Given the description of an element on the screen output the (x, y) to click on. 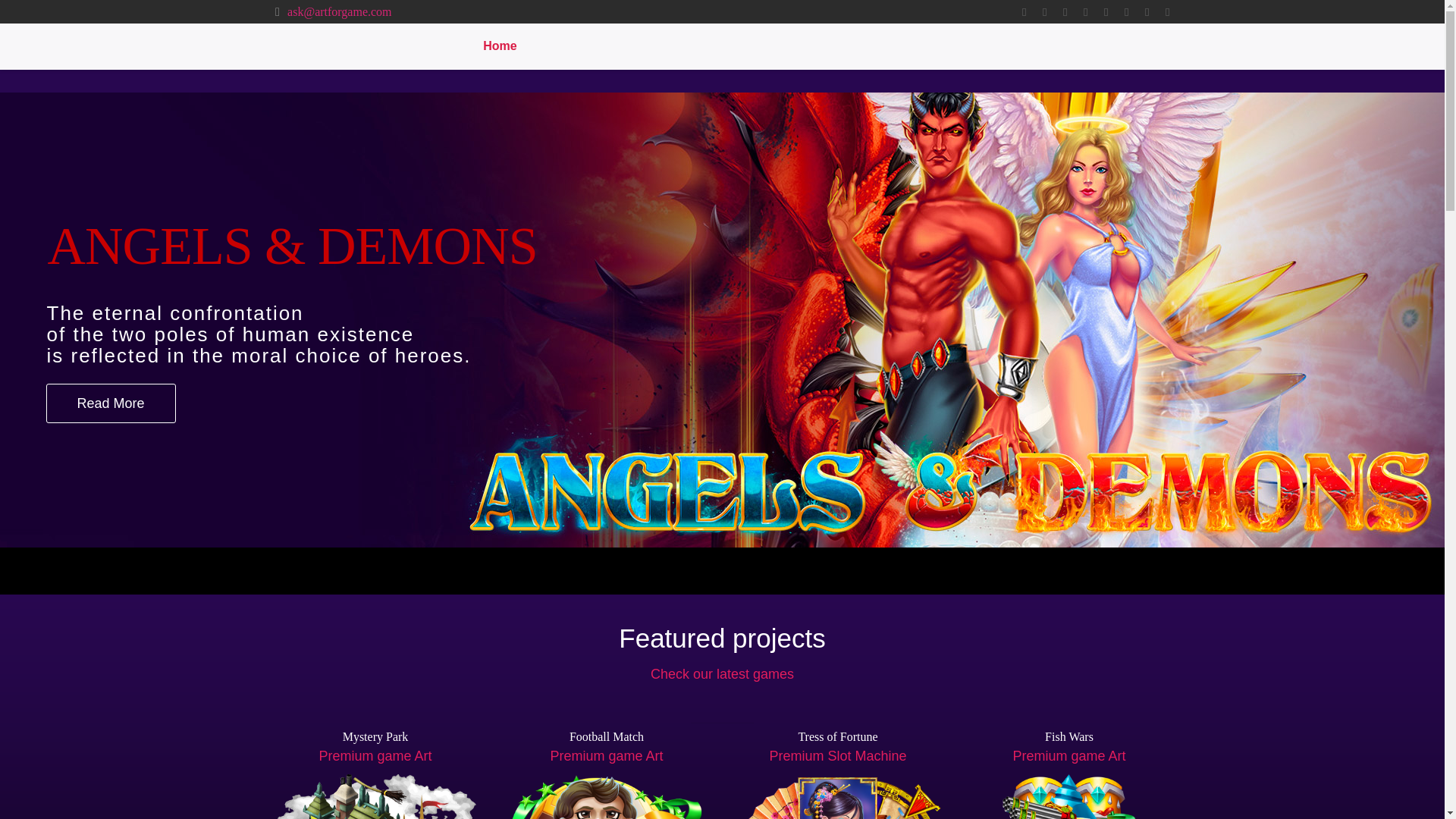
Tuning (771, 45)
Blog (707, 45)
LinkedIn (1085, 11)
Instagram (1146, 11)
trees of fortune (837, 796)
Contact (981, 45)
Twitter (1044, 11)
Behance (1166, 11)
Home (499, 45)
Dribbble (1126, 11)
Works (565, 45)
Shop (836, 45)
YouTube (1065, 11)
football match (606, 796)
mystery park (374, 796)
